Given the description of an element on the screen output the (x, y) to click on. 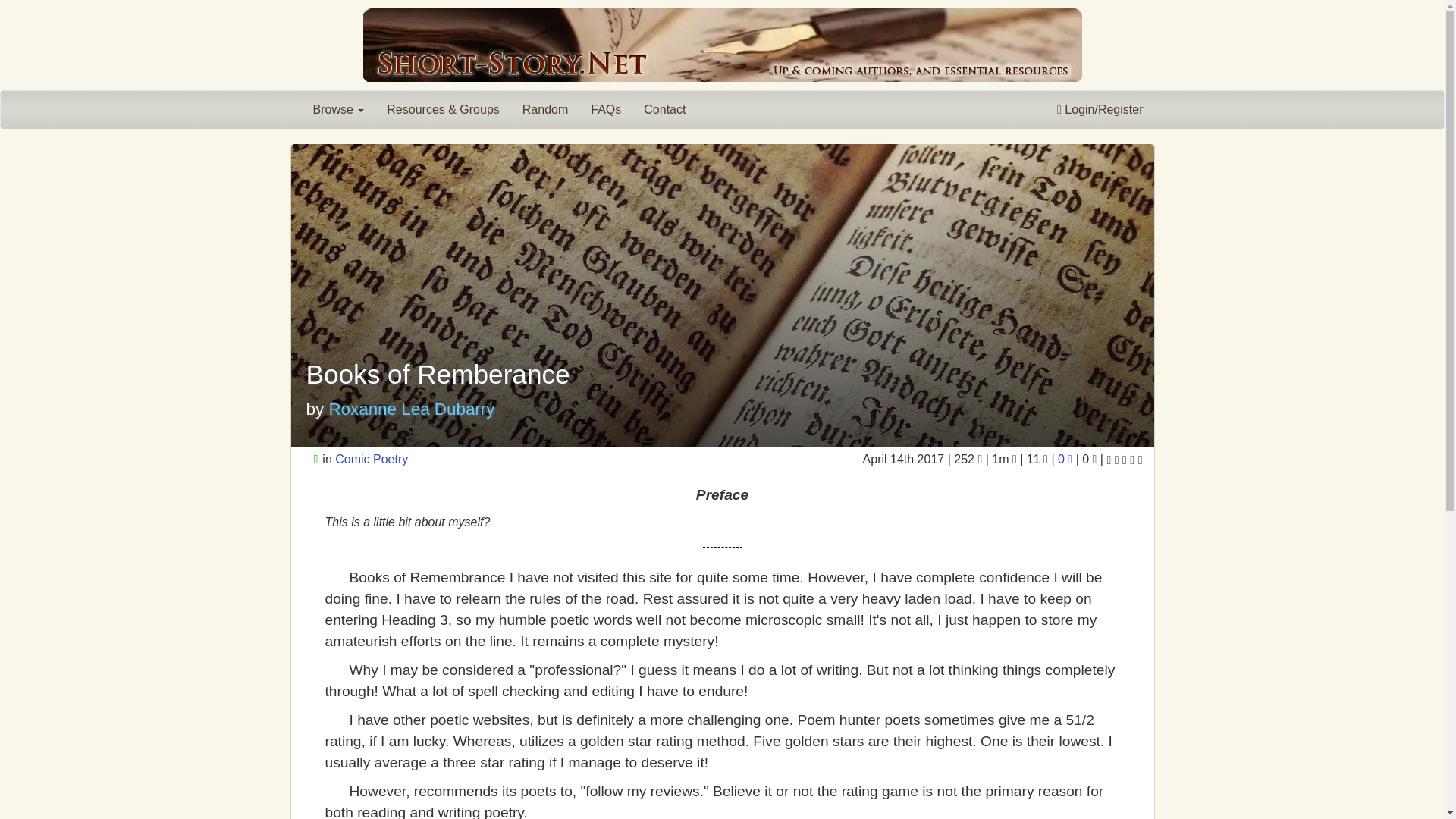
0 (1066, 459)
Random (545, 109)
Contact (664, 109)
Comic Poetry (370, 459)
Browse (338, 109)
Roxanne Lea Dubarry (412, 408)
FAQs (605, 109)
